Given the description of an element on the screen output the (x, y) to click on. 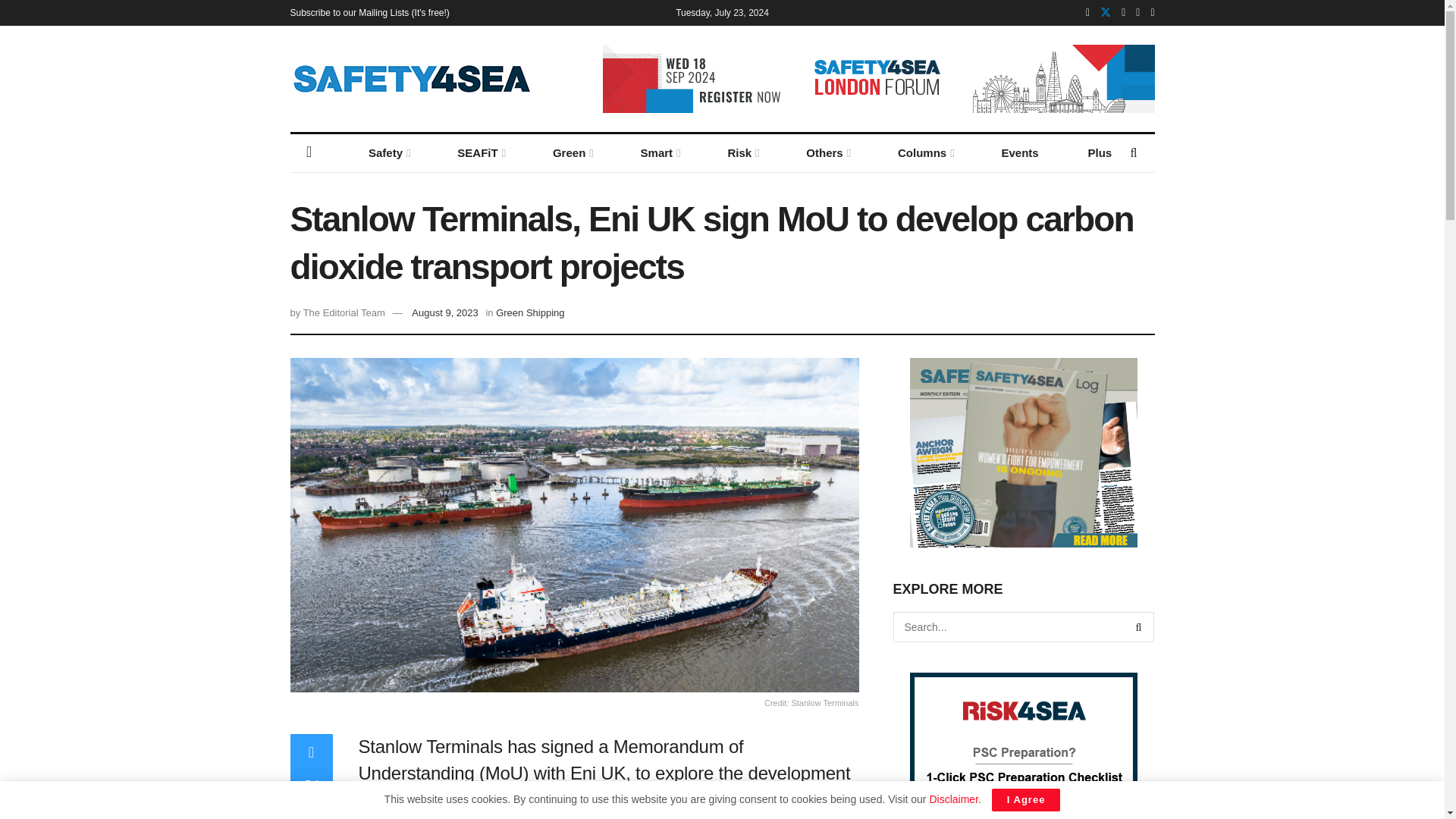
SEAFiT (480, 152)
Safety (388, 152)
